Given the description of an element on the screen output the (x, y) to click on. 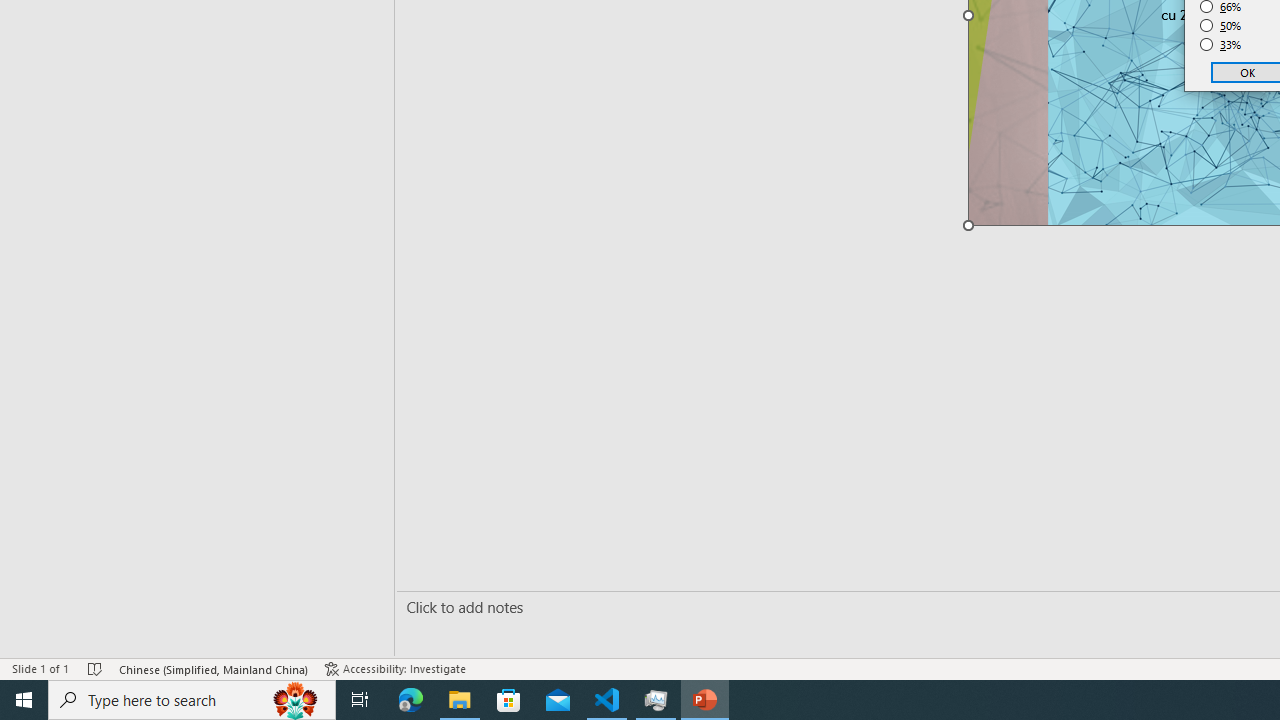
File Explorer - 1 running window (460, 699)
Microsoft Edge (411, 699)
Task Manager - 1 running window (656, 699)
50% (1221, 25)
33% (1221, 44)
